Given the description of an element on the screen output the (x, y) to click on. 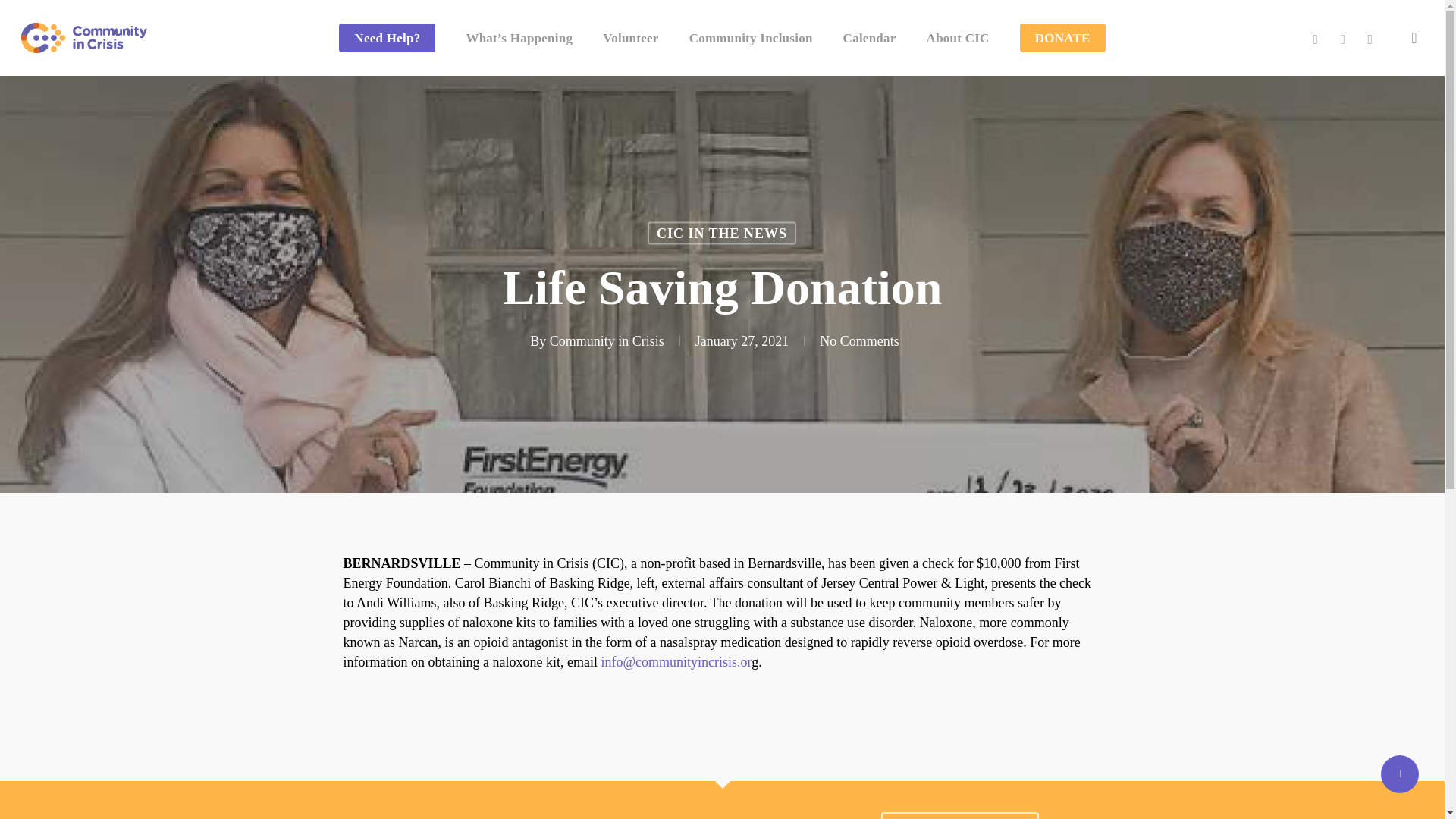
twitter (1315, 36)
DONATE (1062, 37)
search (1414, 37)
Community in Crisis (606, 340)
No Comments (859, 340)
facebook (1342, 36)
CIC IN THE NEWS (721, 232)
Posts by Community in Crisis (606, 340)
Volunteer (630, 37)
Need Help? (387, 37)
instagram (1370, 36)
Calendar (869, 37)
About CIC (958, 37)
Community Inclusion (750, 37)
